Given the description of an element on the screen output the (x, y) to click on. 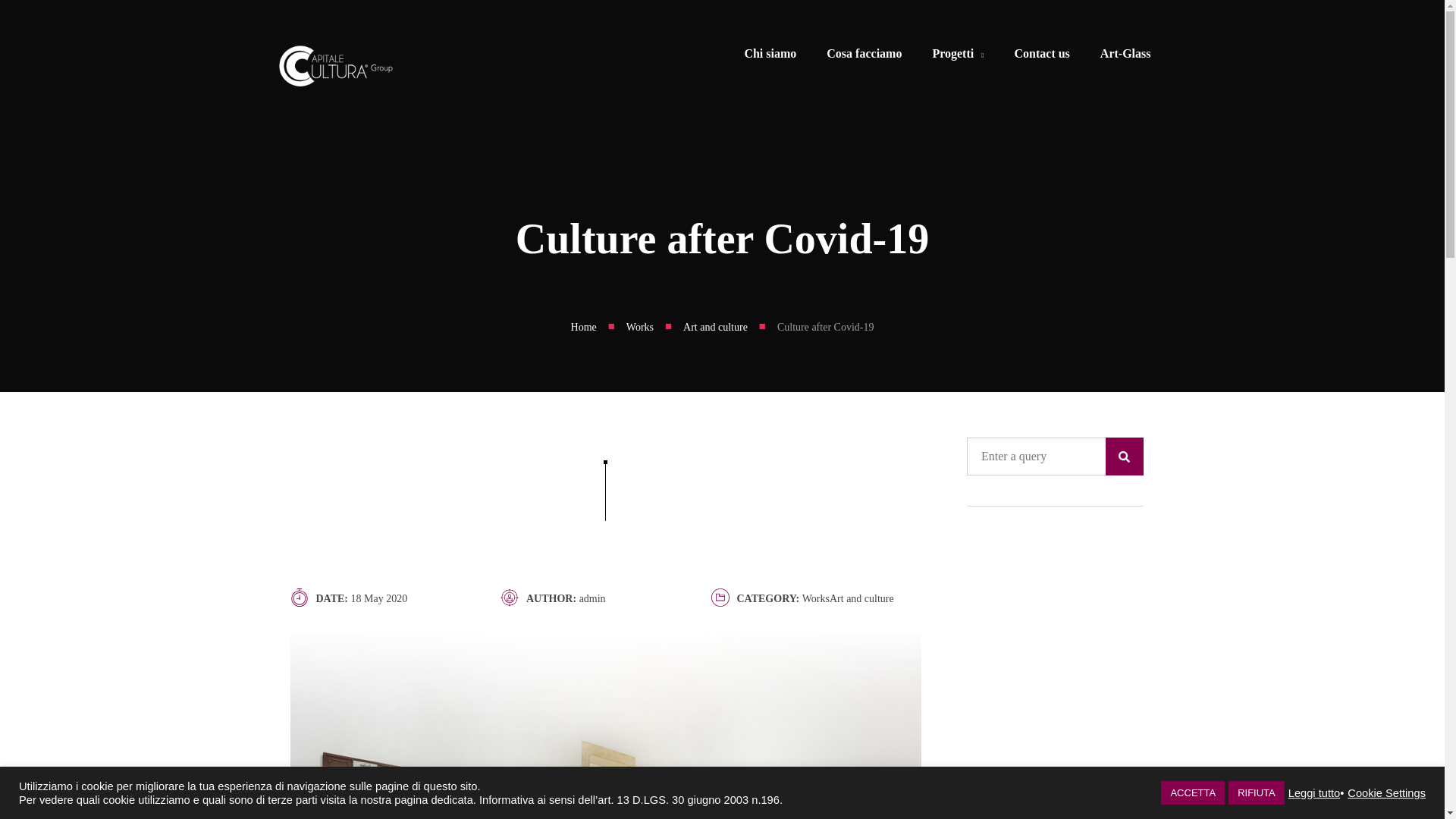
WorksArt and culture (847, 598)
Chi siamo (769, 55)
Home (583, 327)
Works (639, 327)
Art-Glass (1125, 55)
admin (592, 598)
Art and culture (715, 327)
Cosa facciamo (863, 55)
Progetti (957, 55)
Contact us (1041, 55)
